Given the description of an element on the screen output the (x, y) to click on. 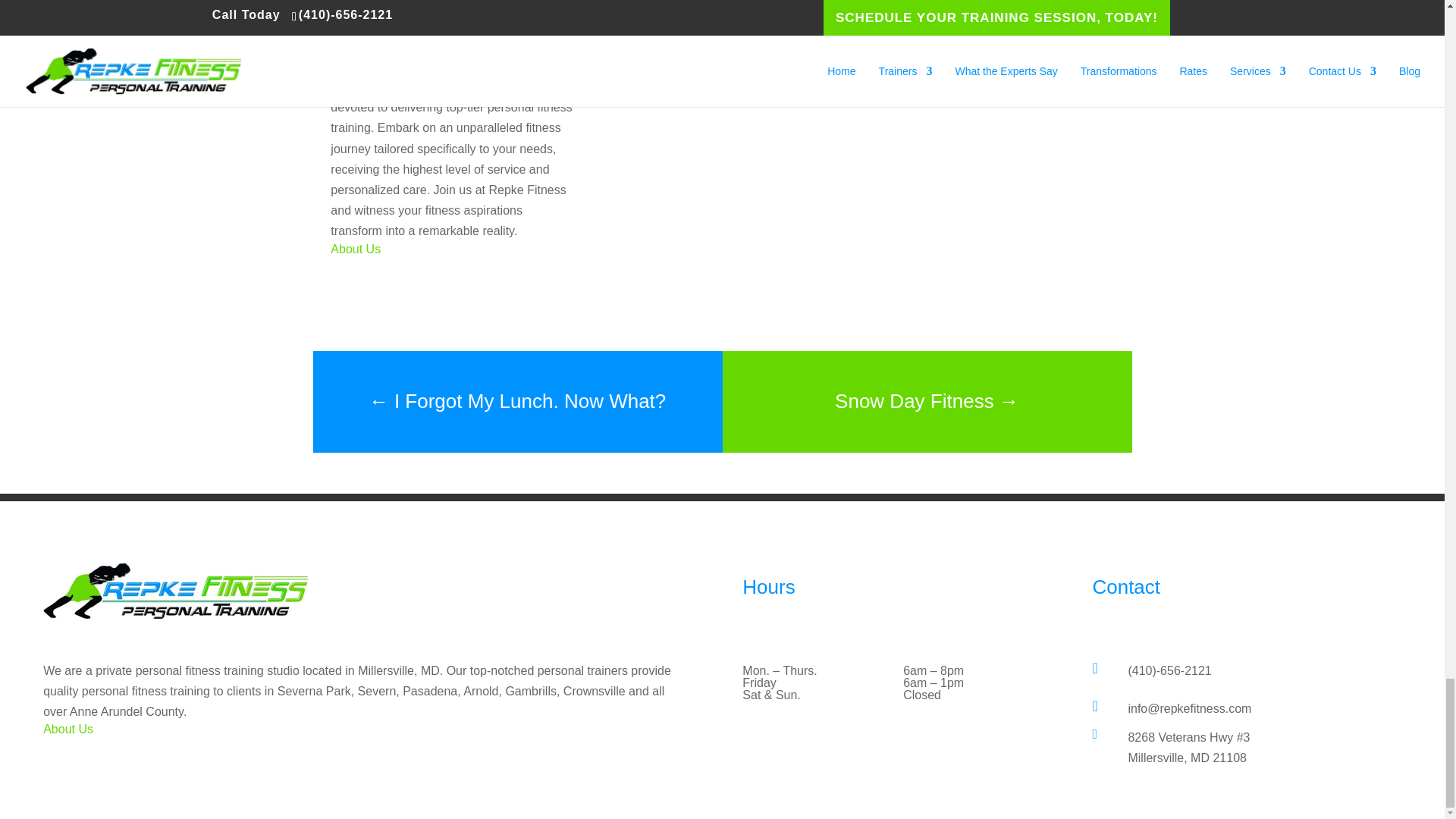
Repke Fitness personal training (175, 590)
